Given the description of an element on the screen output the (x, y) to click on. 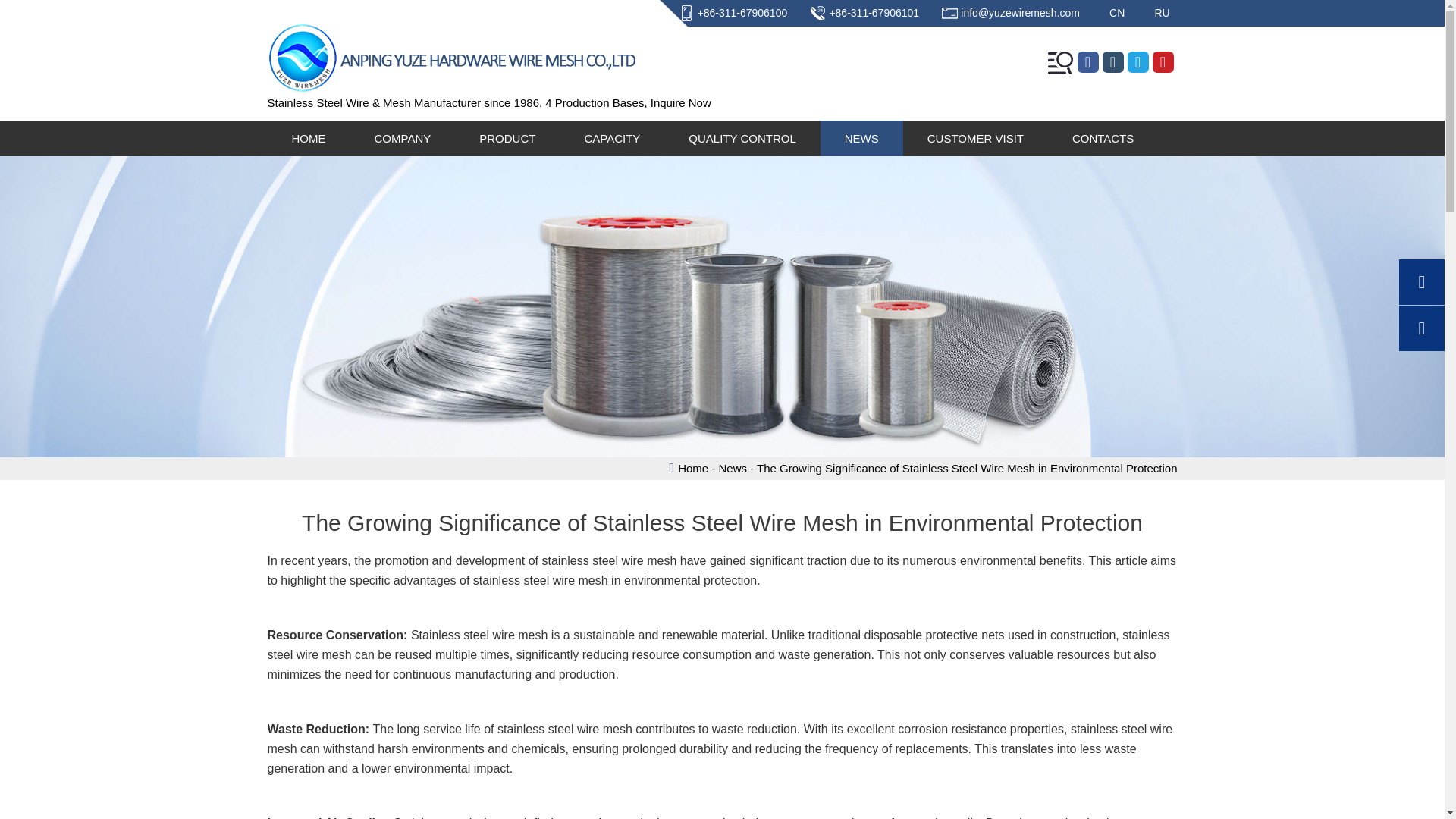
Home (692, 468)
News (733, 468)
HOME (307, 138)
PRODUCT (506, 138)
QUALITY CONTROL (741, 138)
NEWS (861, 138)
COMPANY (402, 138)
CUSTOMER VISIT (975, 138)
RU (1161, 12)
CN (1116, 12)
ANPING YUZE HARDWARE WIRE MESH CO.,LTD (452, 89)
CAPACITY (611, 138)
CONTACTS (1102, 138)
